Given the description of an element on the screen output the (x, y) to click on. 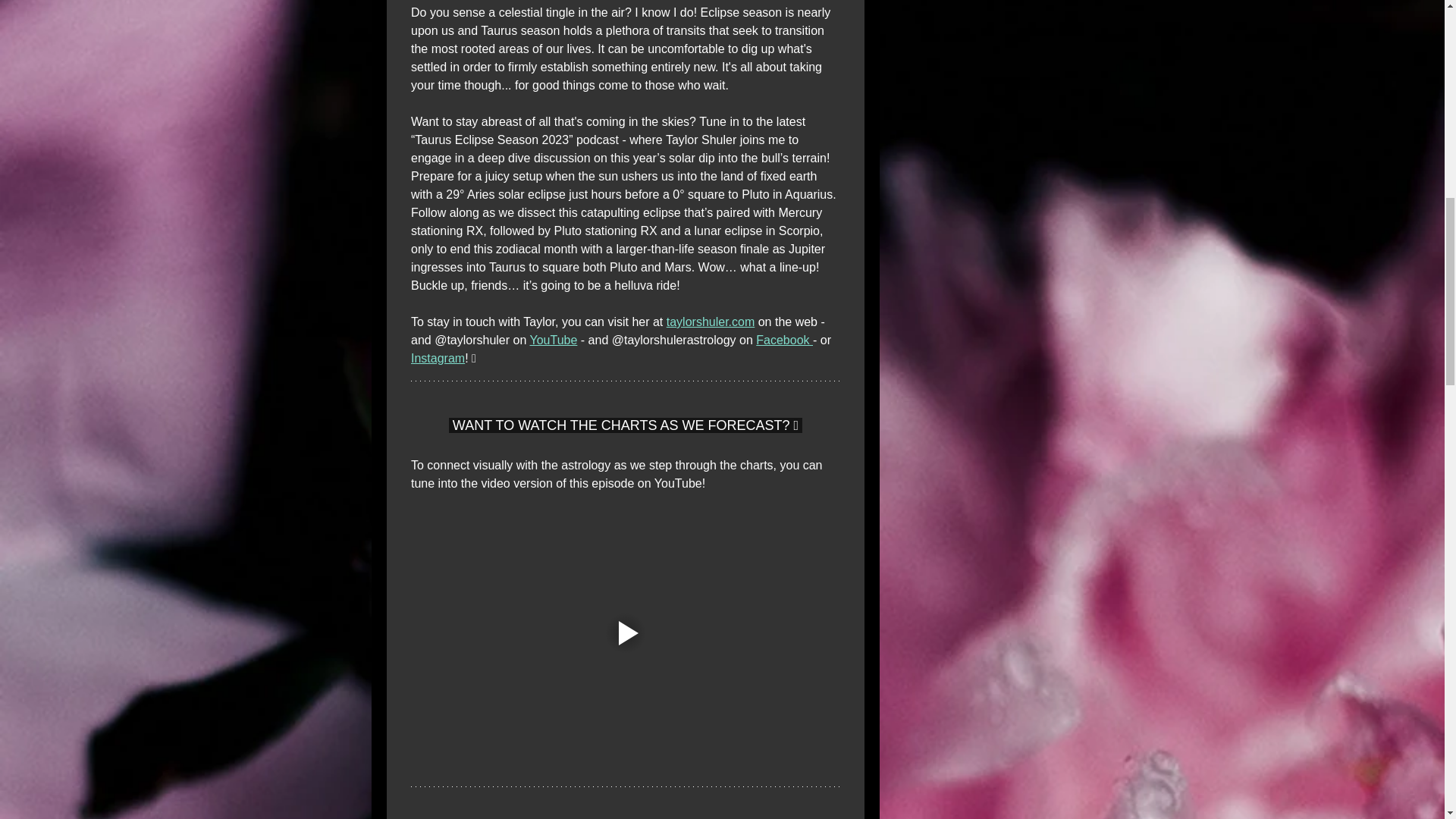
Instagram (437, 358)
YouTube (552, 339)
Facebook  (783, 339)
taylorshuler.com (709, 321)
